Given the description of an element on the screen output the (x, y) to click on. 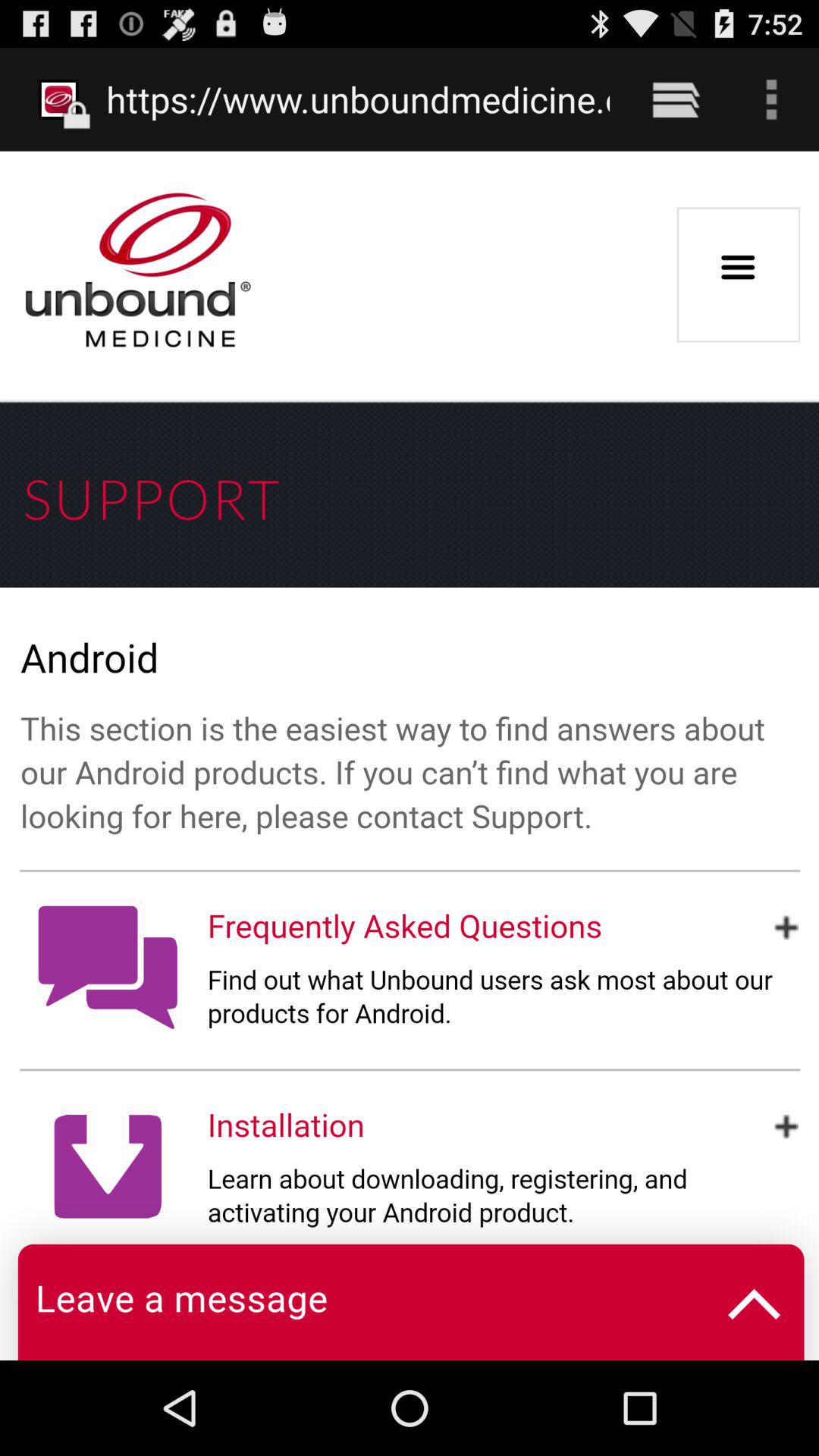
tap icon next to https www unboundmedicine (675, 99)
